Given the description of an element on the screen output the (x, y) to click on. 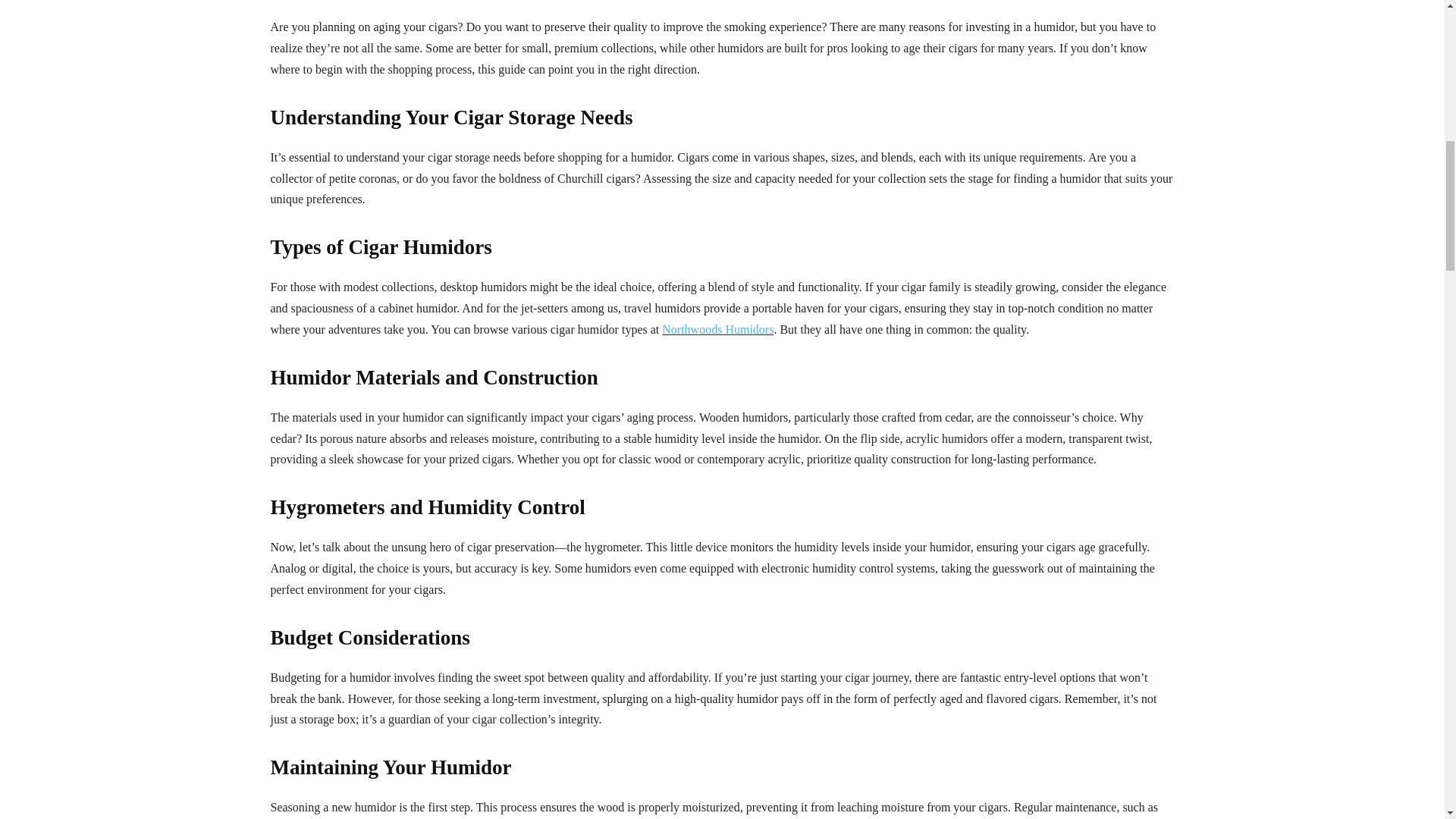
Northwoods Humidors (717, 328)
